Given the description of an element on the screen output the (x, y) to click on. 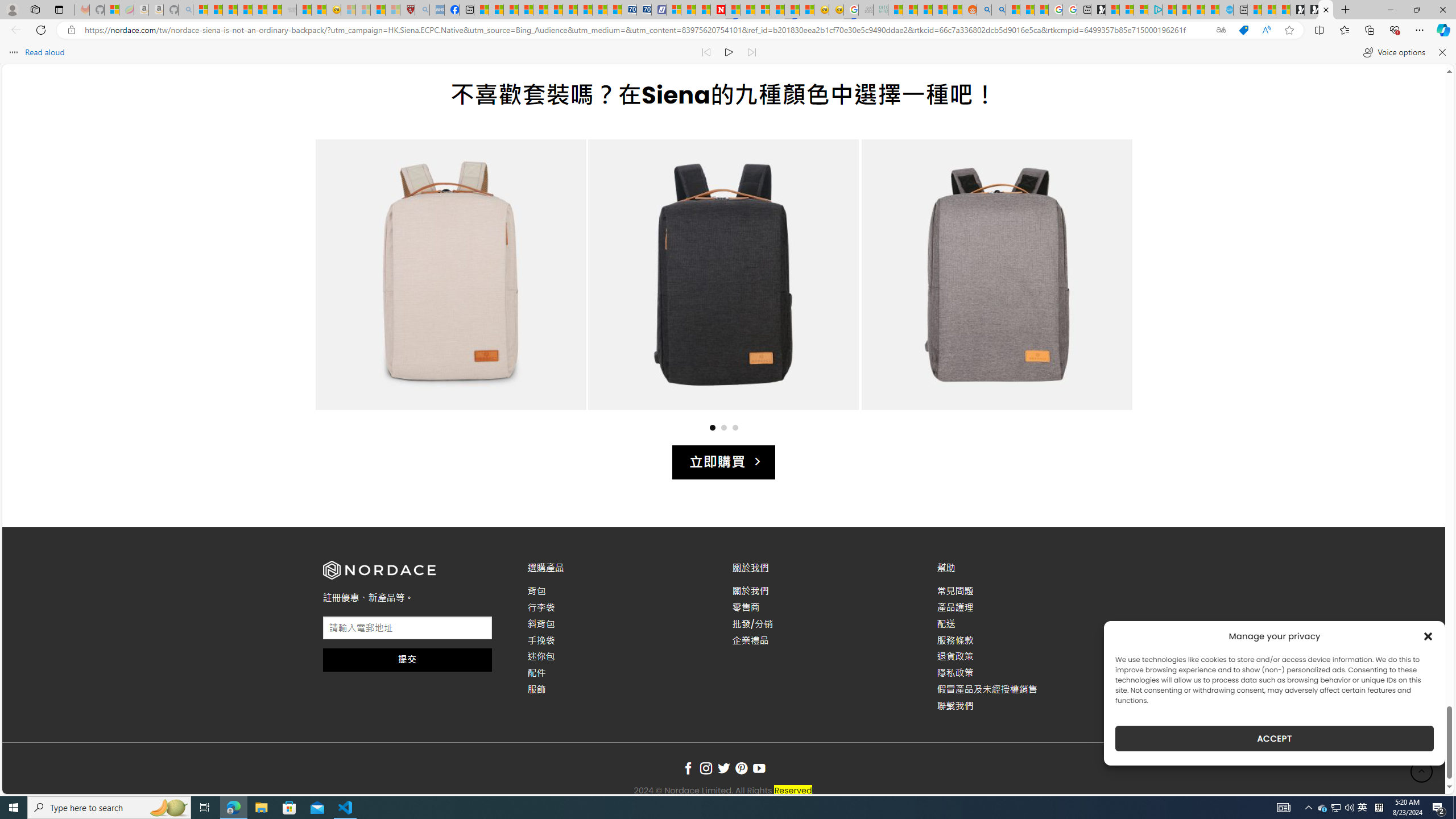
Follow on YouTube (758, 768)
Climate Damage Becomes Too Severe To Reverse (525, 9)
The Weather Channel - MSN (229, 9)
ACCEPT (1274, 738)
